Given the description of an element on the screen output the (x, y) to click on. 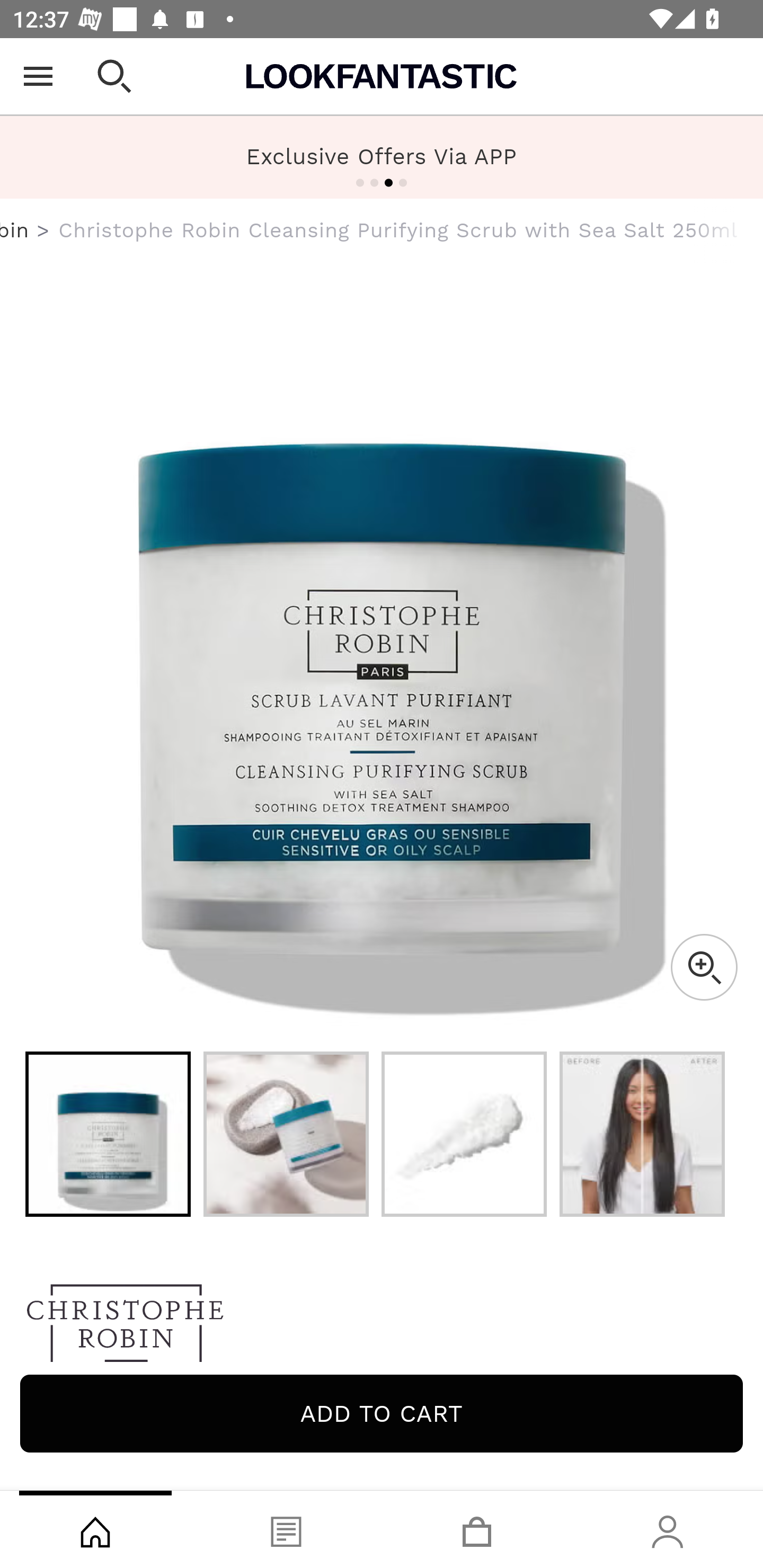
Open Menu (38, 75)
Open search (114, 75)
Lookfantastic USA (381, 75)
Christophe Robin (15, 230)
Zoom (703, 966)
Christophe Robin (381, 1327)
Add to cart (381, 1413)
Shop, tab, 1 of 4 (95, 1529)
Blog, tab, 2 of 4 (285, 1529)
Basket, tab, 3 of 4 (476, 1529)
Account, tab, 4 of 4 (667, 1529)
